Given the description of an element on the screen output the (x, y) to click on. 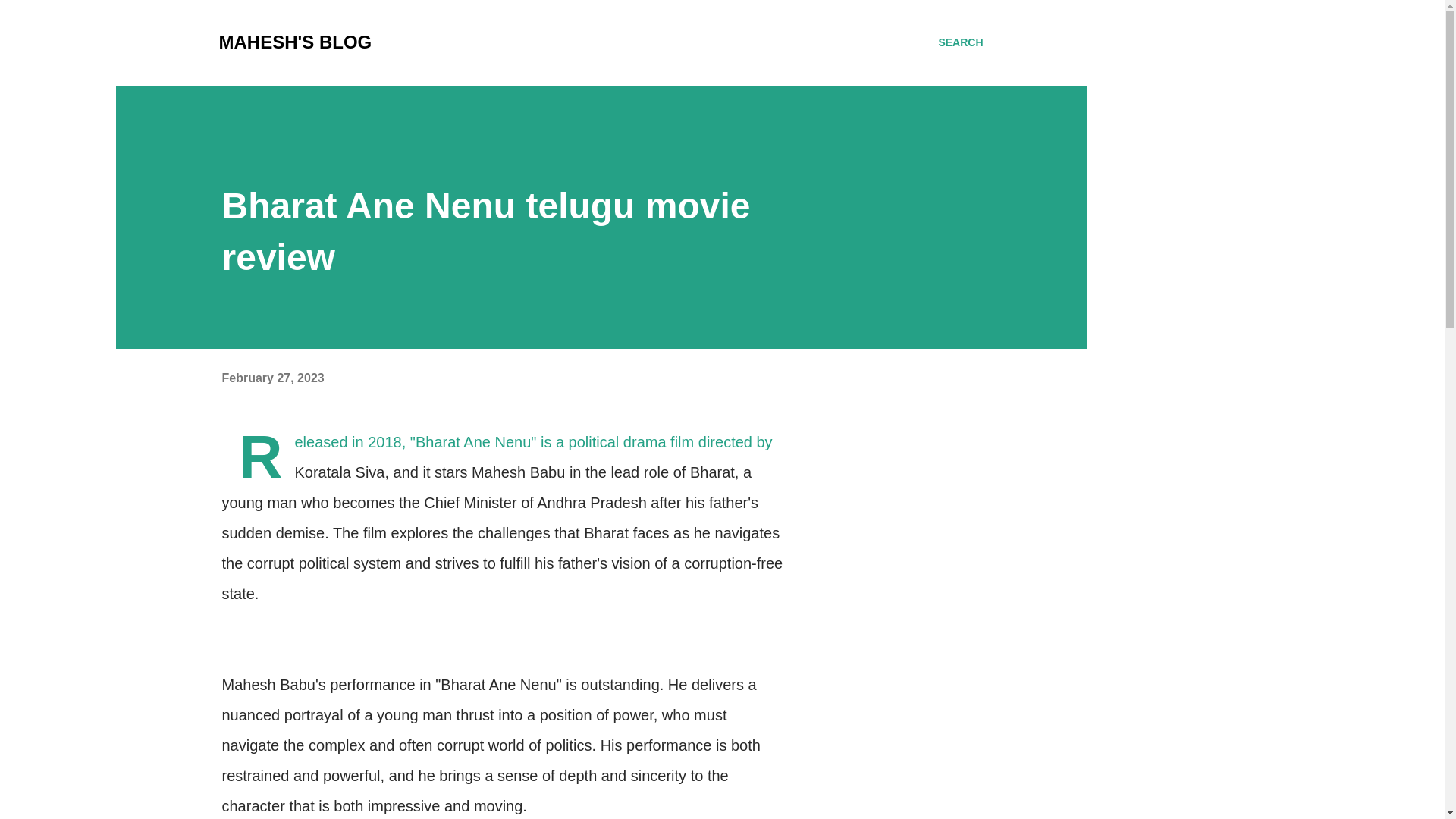
MAHESH'S BLOG (294, 41)
permanent link (272, 377)
February 27, 2023 (272, 377)
SEARCH (959, 42)
